Given the description of an element on the screen output the (x, y) to click on. 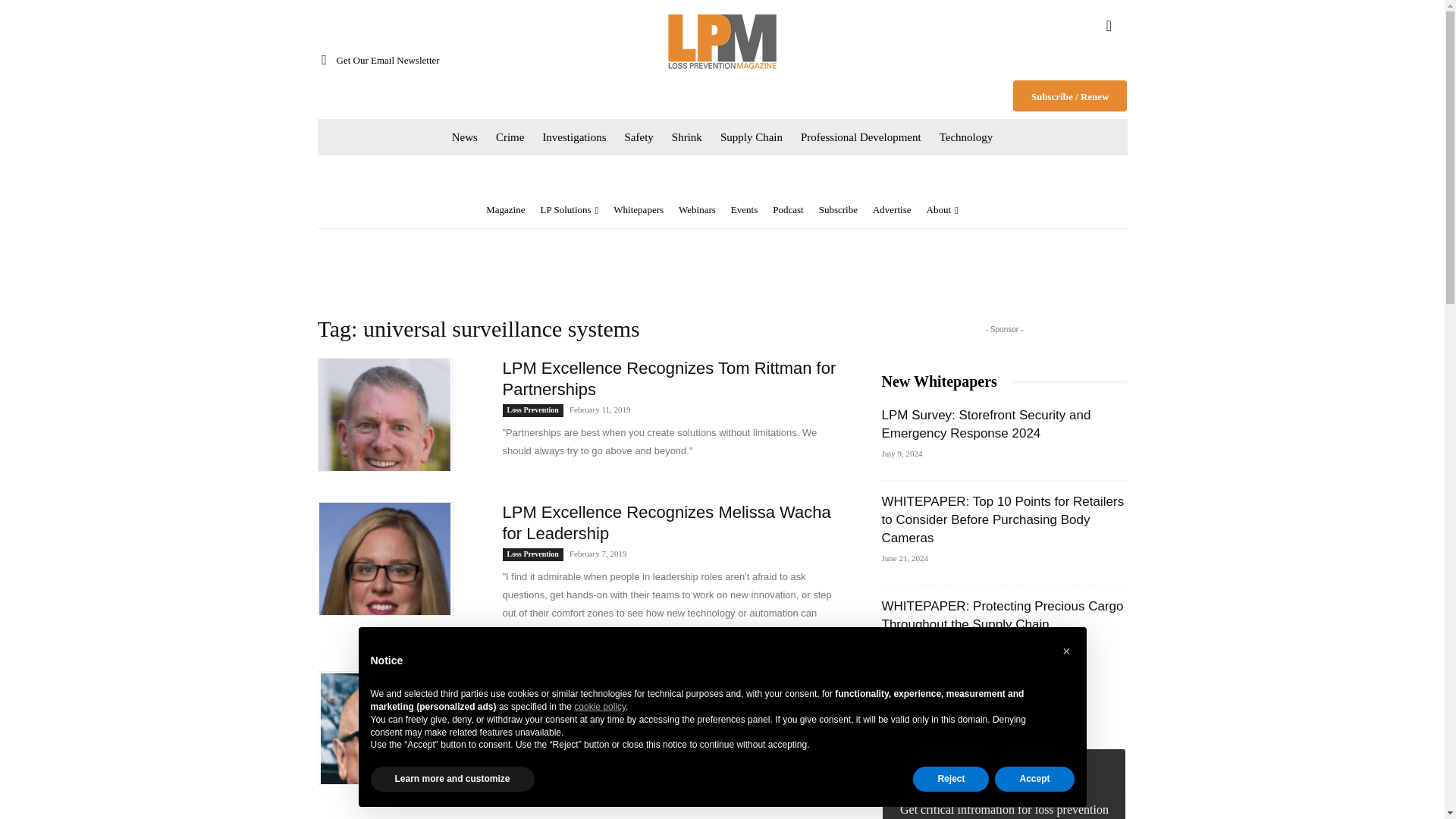
News (464, 136)
LPM Excellence Recognizes Tom Rittman for Partnerships (384, 414)
LPM Excellence Recognizes Tom Rittman for Partnerships (668, 378)
Loss Prevention Media (721, 41)
LPM Excellence Recognizes Melissa Wacha for Leadership (384, 558)
Loss Prevention Media (721, 41)
